Given the description of an element on the screen output the (x, y) to click on. 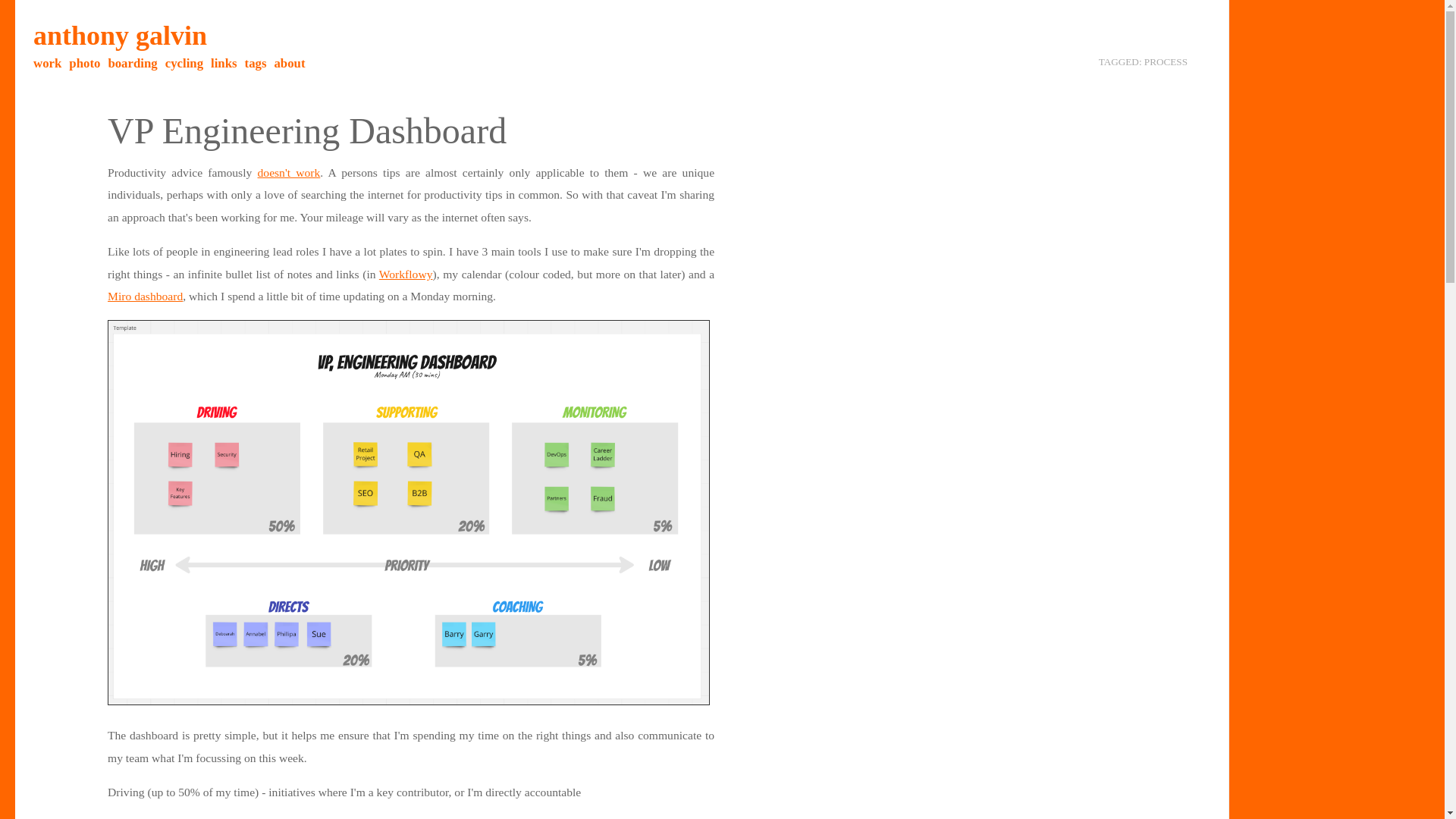
about (288, 63)
Miro dashboard (145, 295)
boarding (132, 63)
tags (255, 63)
photo (84, 63)
cycling (184, 63)
Workflowy (405, 273)
anthony galvin (119, 35)
doesn't work (288, 172)
links (224, 63)
